Given the description of an element on the screen output the (x, y) to click on. 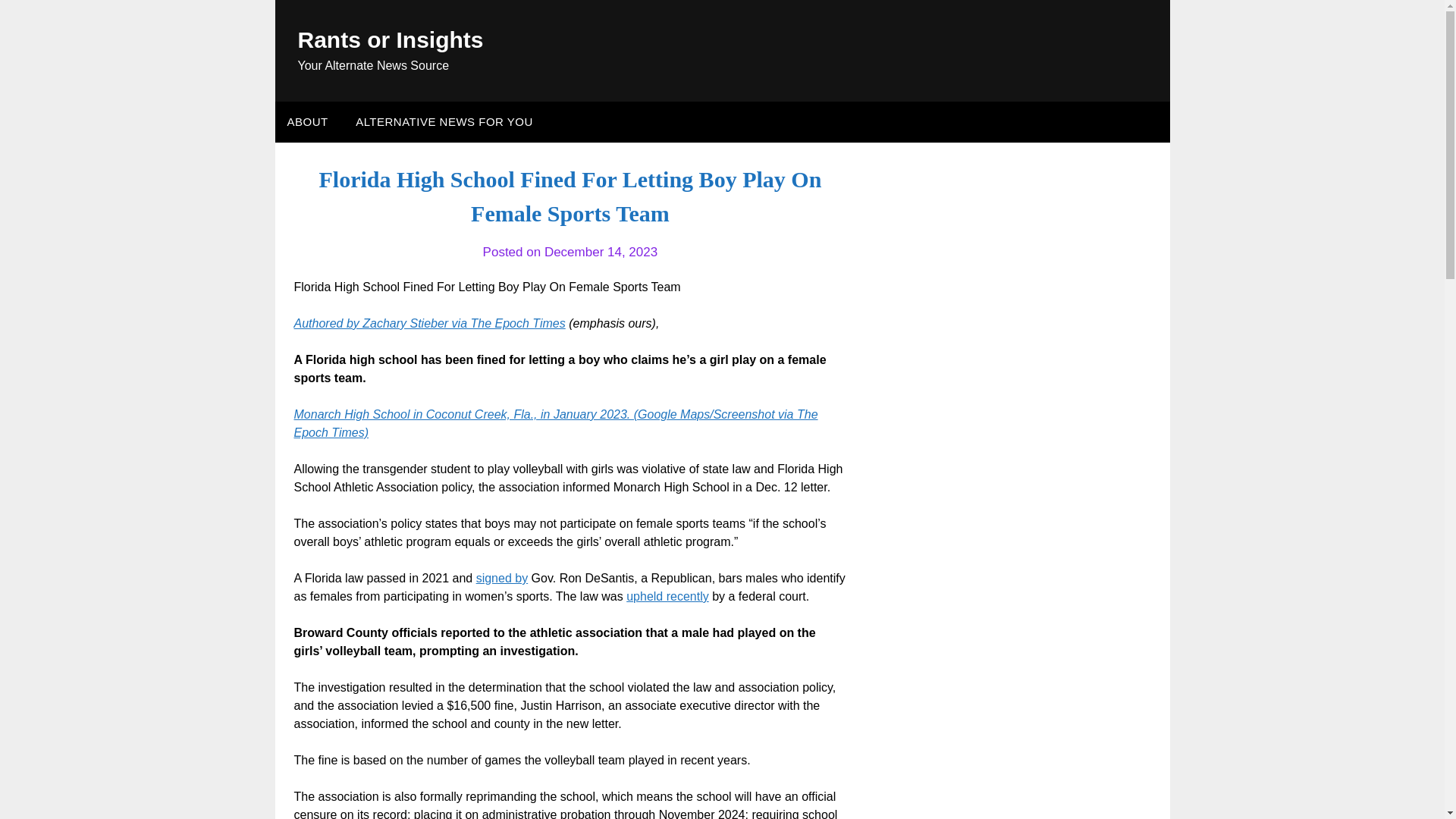
signed by (502, 577)
Authored by Zachary Stieber via The Epoch Times (430, 323)
ALTERNATIVE NEWS FOR YOU (443, 121)
Rants or Insights (390, 39)
upheld recently (667, 595)
ABOUT (307, 121)
